Given the description of an element on the screen output the (x, y) to click on. 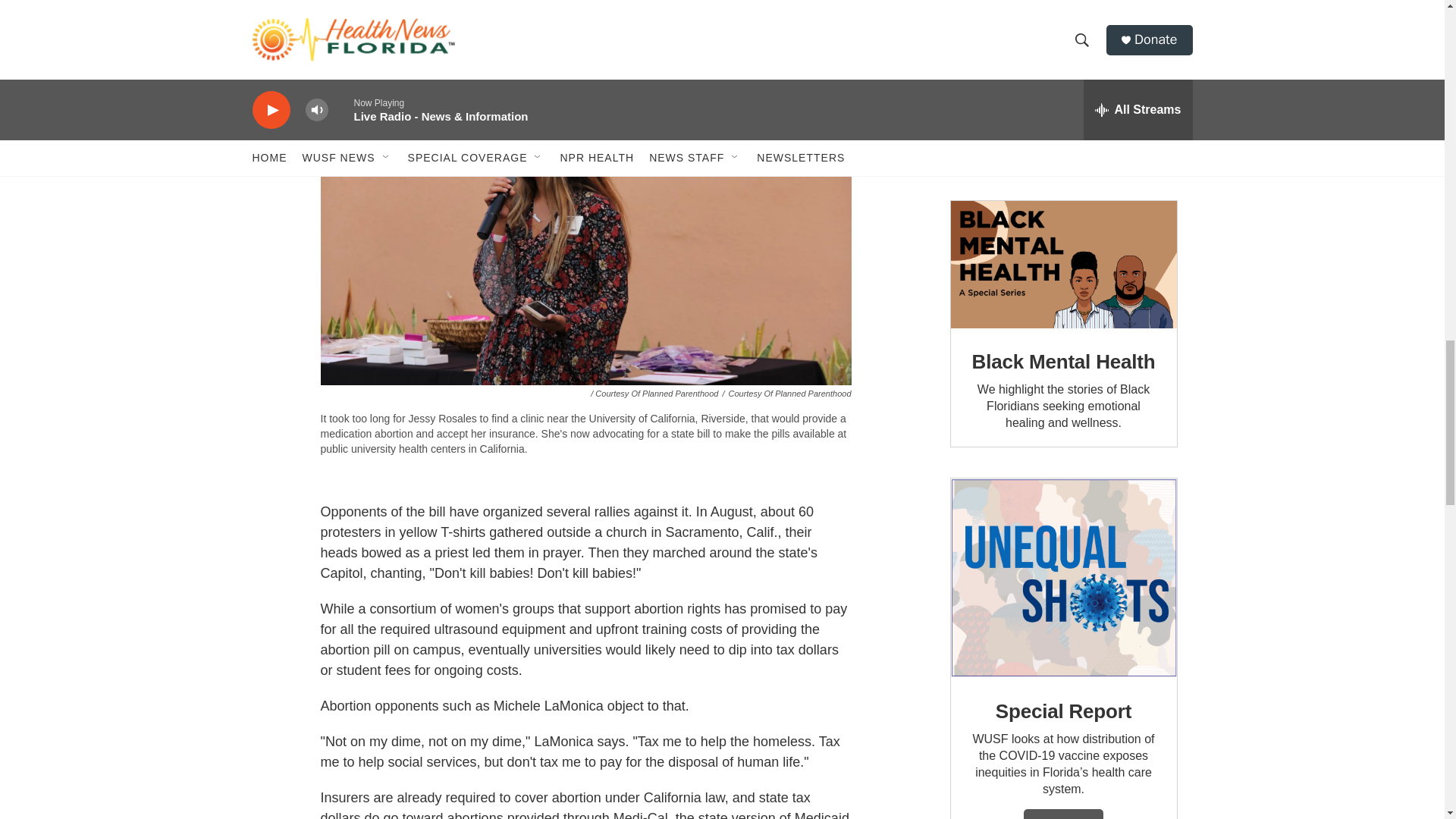
3rd party ad content (1062, 84)
